Given the description of an element on the screen output the (x, y) to click on. 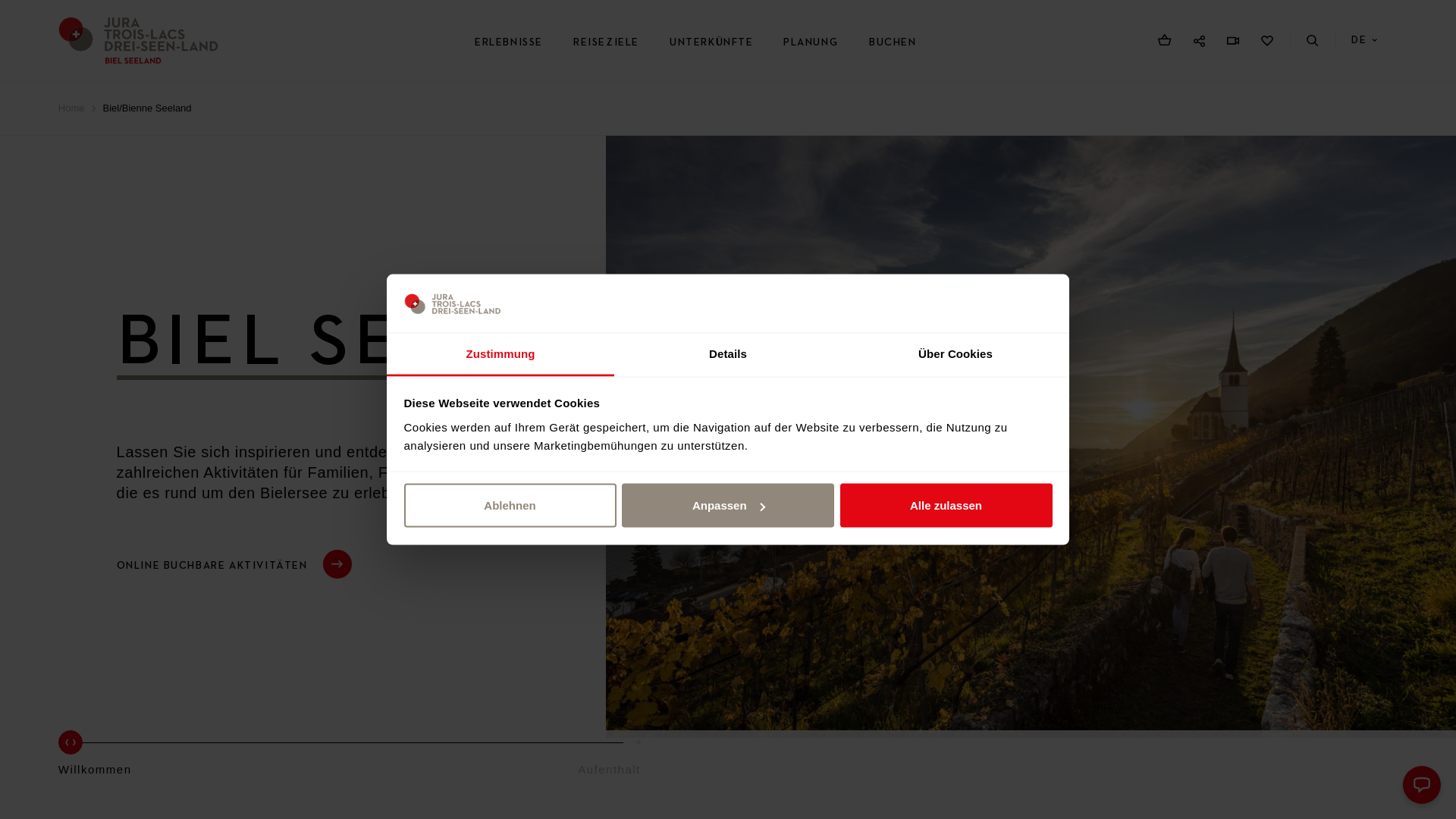
Favoriten Element type: hover (1266, 40)
Willkommen Element type: text (94, 759)
Aufenthalt Element type: text (608, 759)
BIEL SEELAND Element type: text (390, 343)
Biel/Bienne Seeland Element type: text (145, 108)
ERLEBNISSE Element type: text (508, 42)
Suchen Element type: hover (1312, 40)
Anpassen Element type: text (727, 505)
Soziale Medien Element type: hover (1198, 40)
BUCHEN Element type: text (892, 42)
Webcams Element type: hover (1232, 40)
Home Element type: text (70, 108)
Alle zulassen Element type: text (946, 505)
REISEZIELE Element type: text (606, 42)
Ablehnen Element type: text (509, 505)
PLANUNG Element type: text (810, 42)
Zustimmung Element type: text (500, 354)
Details Element type: text (727, 354)
